Given the description of an element on the screen output the (x, y) to click on. 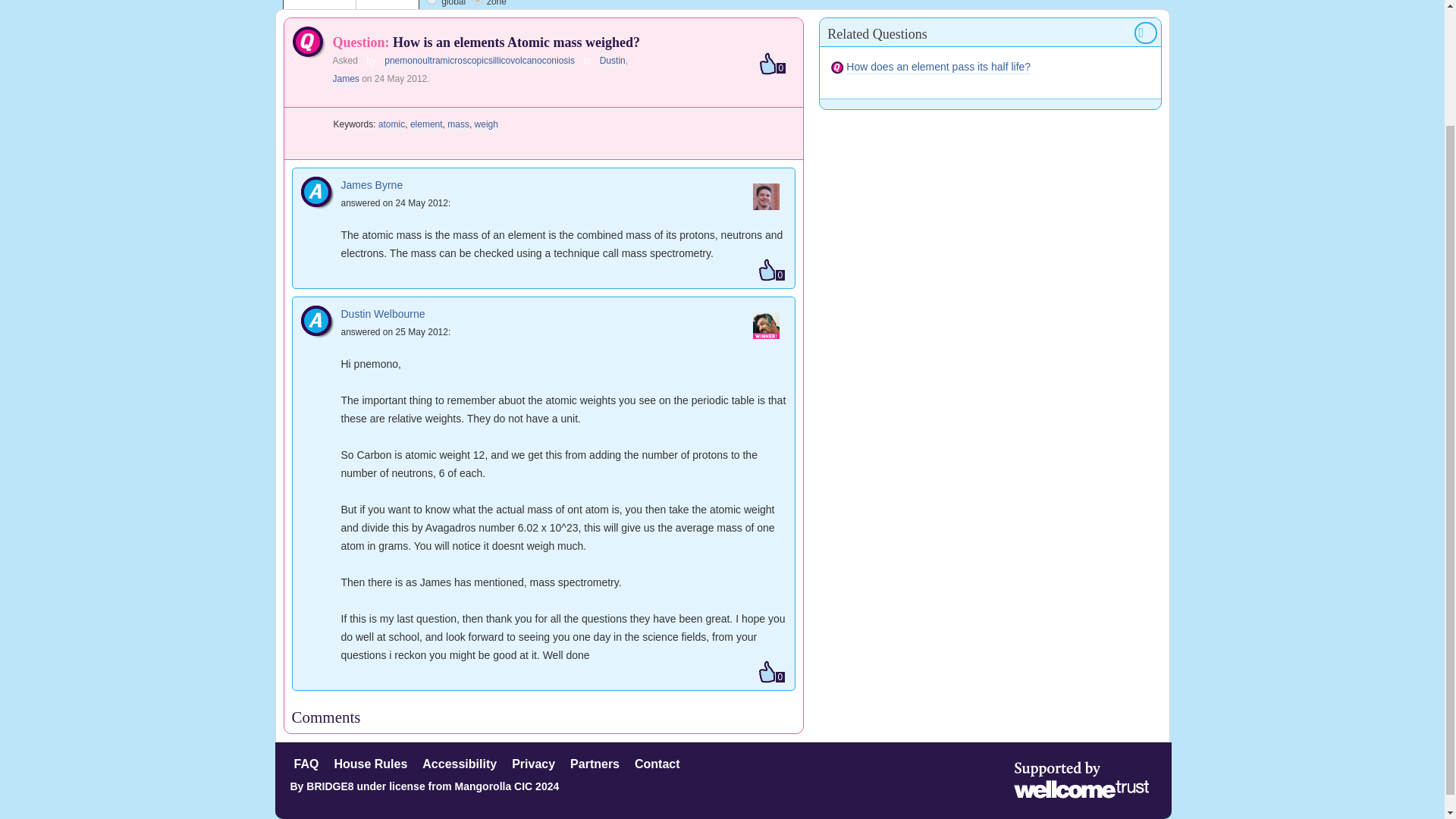
FAQ (306, 762)
Like this (771, 673)
weigh (485, 124)
0 (771, 673)
0 (772, 63)
Like this (771, 270)
zone (476, 2)
Accessibility (459, 762)
House Rules (370, 762)
Scientists (387, 4)
